Given the description of an element on the screen output the (x, y) to click on. 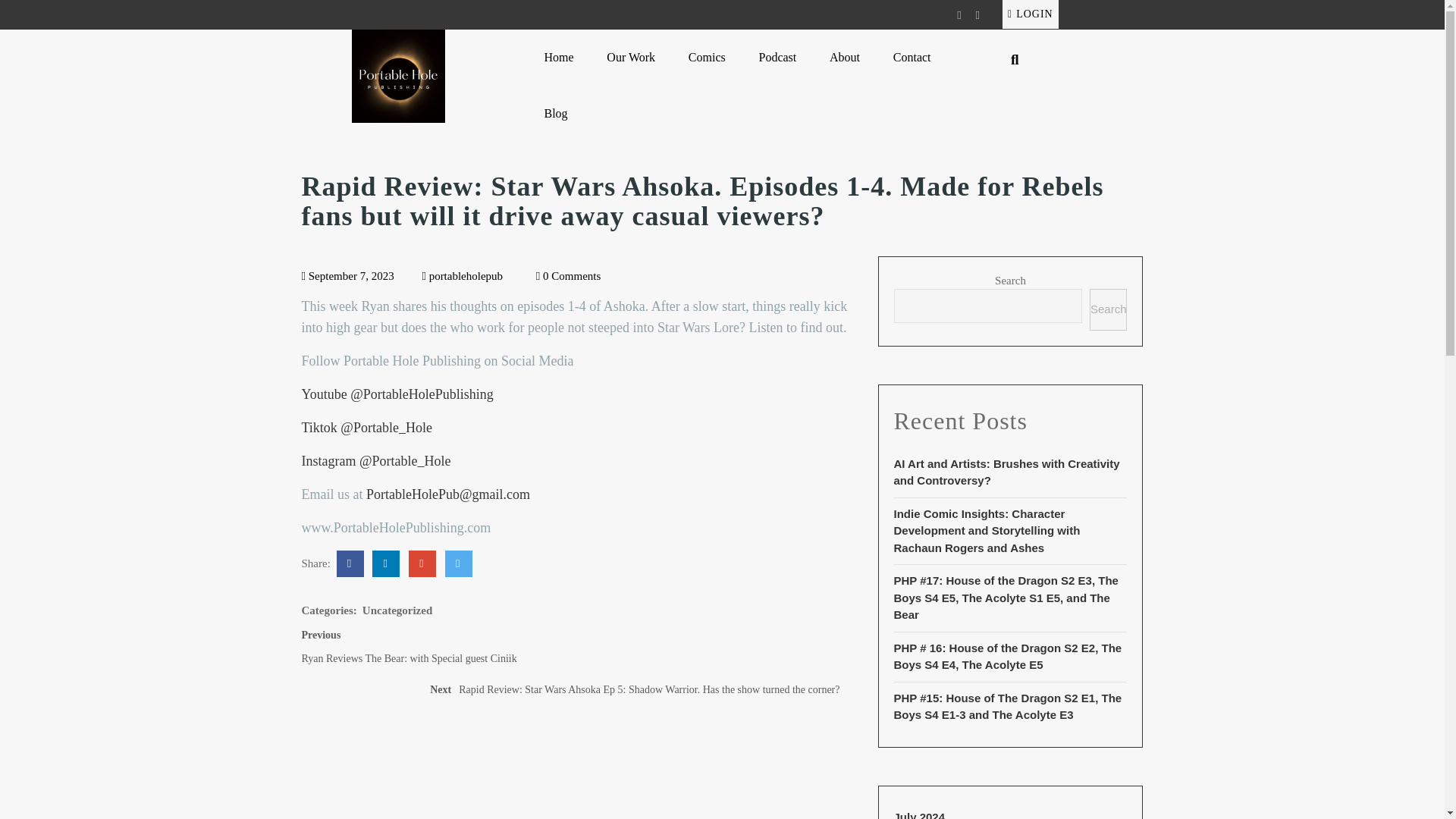
Contact (912, 57)
AI Art and Artists: Brushes with Creativity and Controversy? (435, 650)
LOGIN (1006, 472)
July 2024 (1030, 14)
Comics (918, 814)
portableholepub (706, 57)
Blog (462, 275)
Our Work (555, 113)
About (631, 57)
Podcast (844, 57)
Home (777, 57)
Search (558, 57)
